Given the description of an element on the screen output the (x, y) to click on. 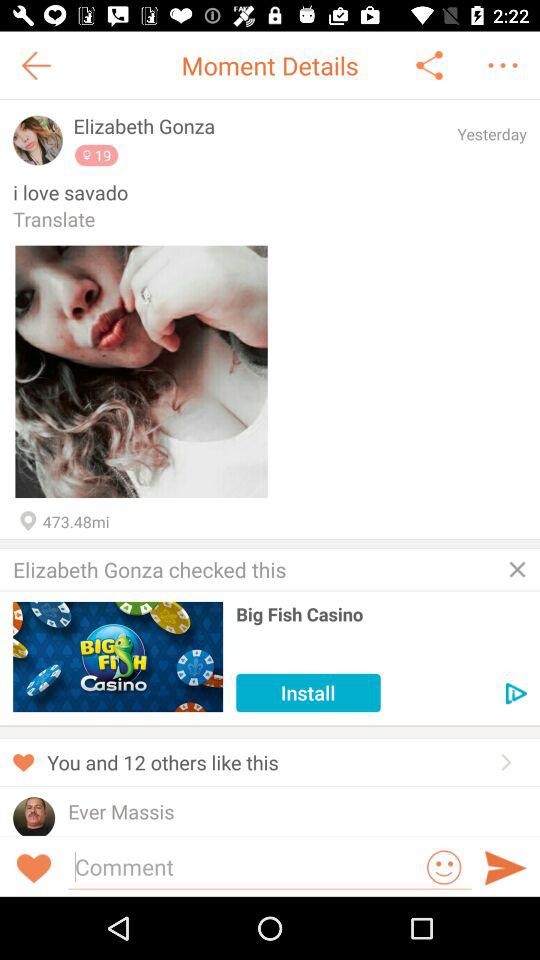
move to next (515, 693)
